Given the description of an element on the screen output the (x, y) to click on. 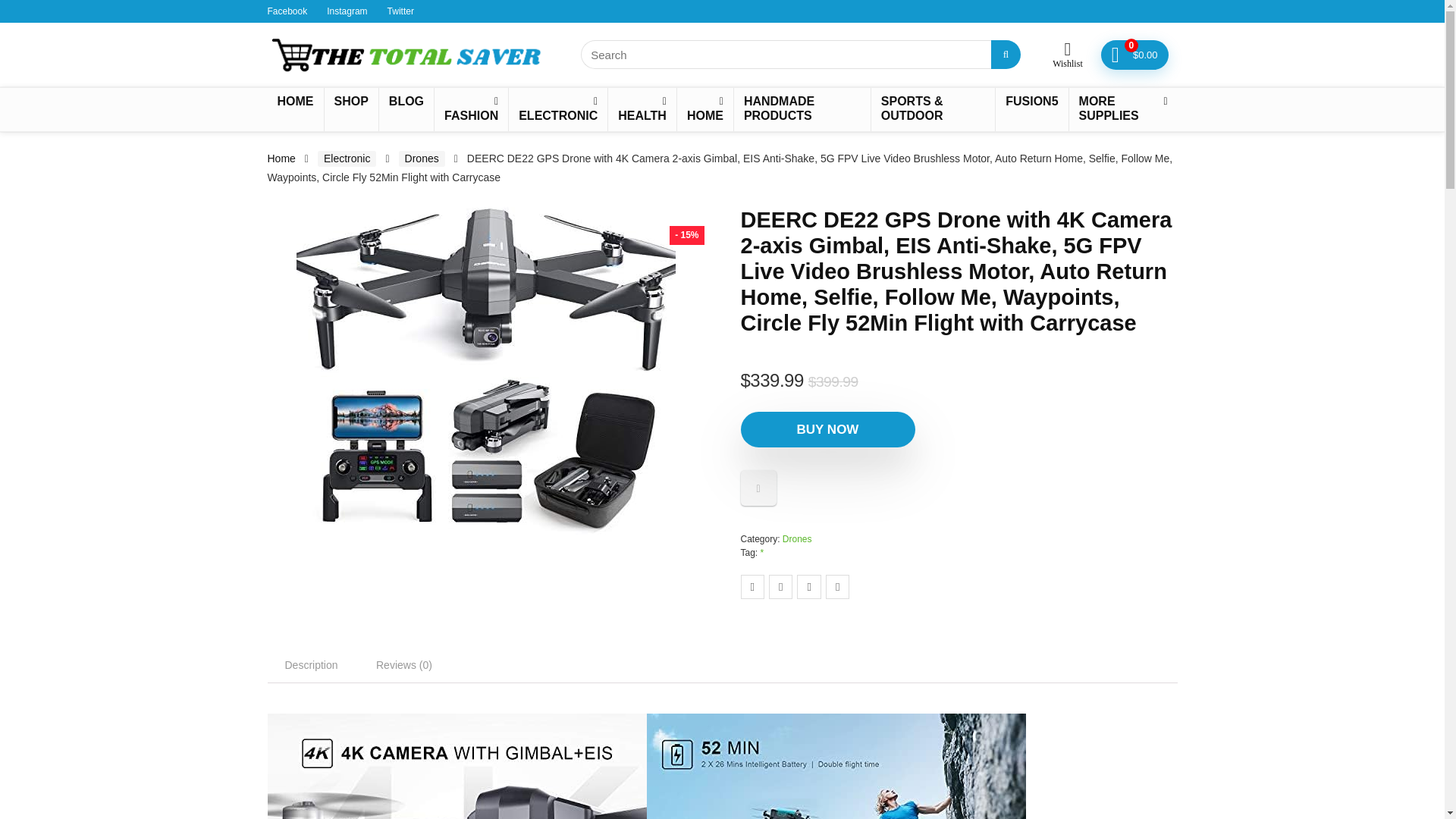
ELECTRONIC (557, 109)
FUSION5 (1031, 102)
Facebook (286, 10)
Instagram (346, 10)
SHOP (351, 102)
HOME (705, 109)
FASHION (470, 109)
Twitter (400, 10)
MORE SUPPLIES (1122, 109)
BLOG (405, 102)
